Given the description of an element on the screen output the (x, y) to click on. 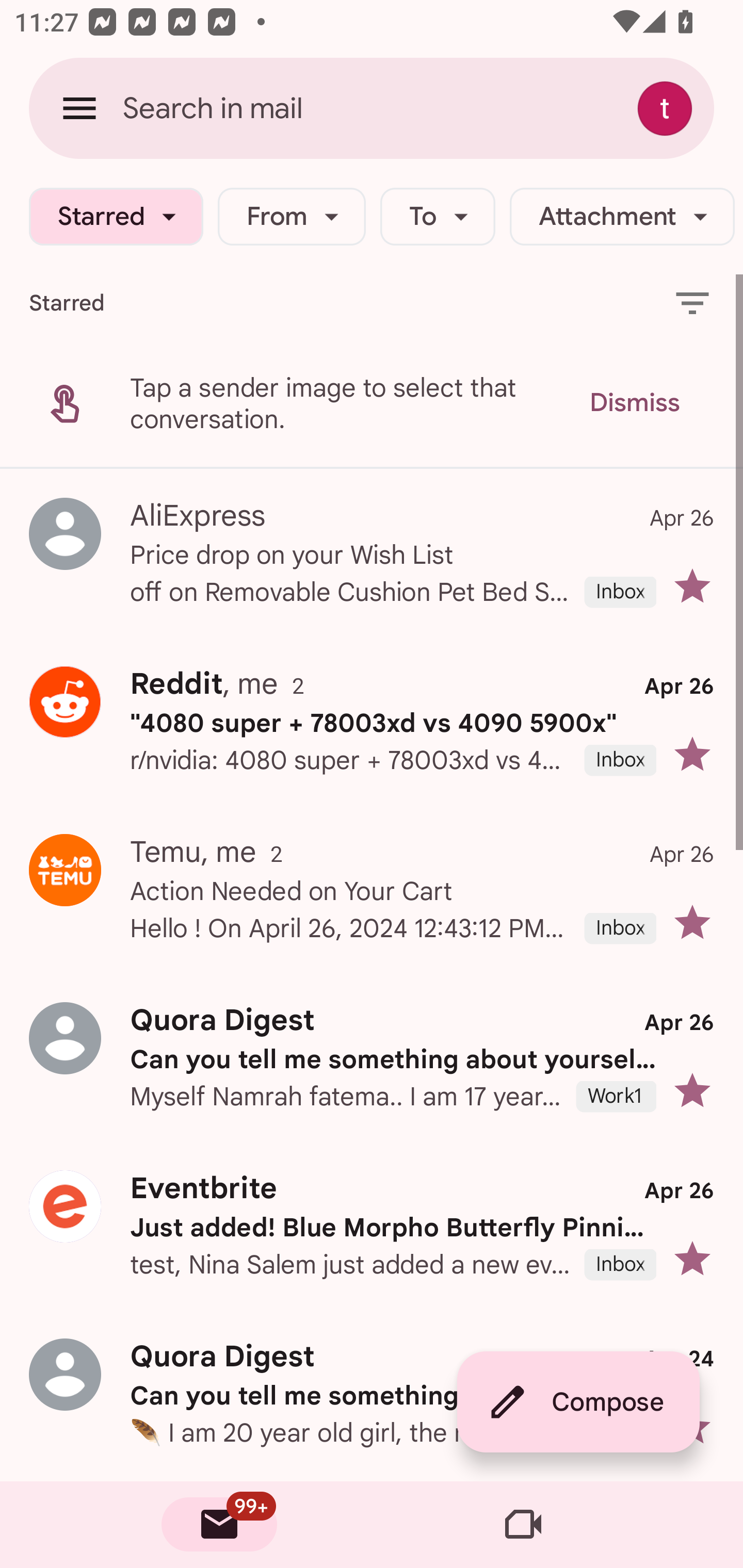
Open navigation drawer (79, 108)
Starred (115, 217)
From (291, 217)
To (437, 217)
Attachment (621, 217)
Filter icon (692, 302)
Dismiss Dismiss tip (634, 403)
Compose (577, 1401)
Meet (523, 1524)
